Given the description of an element on the screen output the (x, y) to click on. 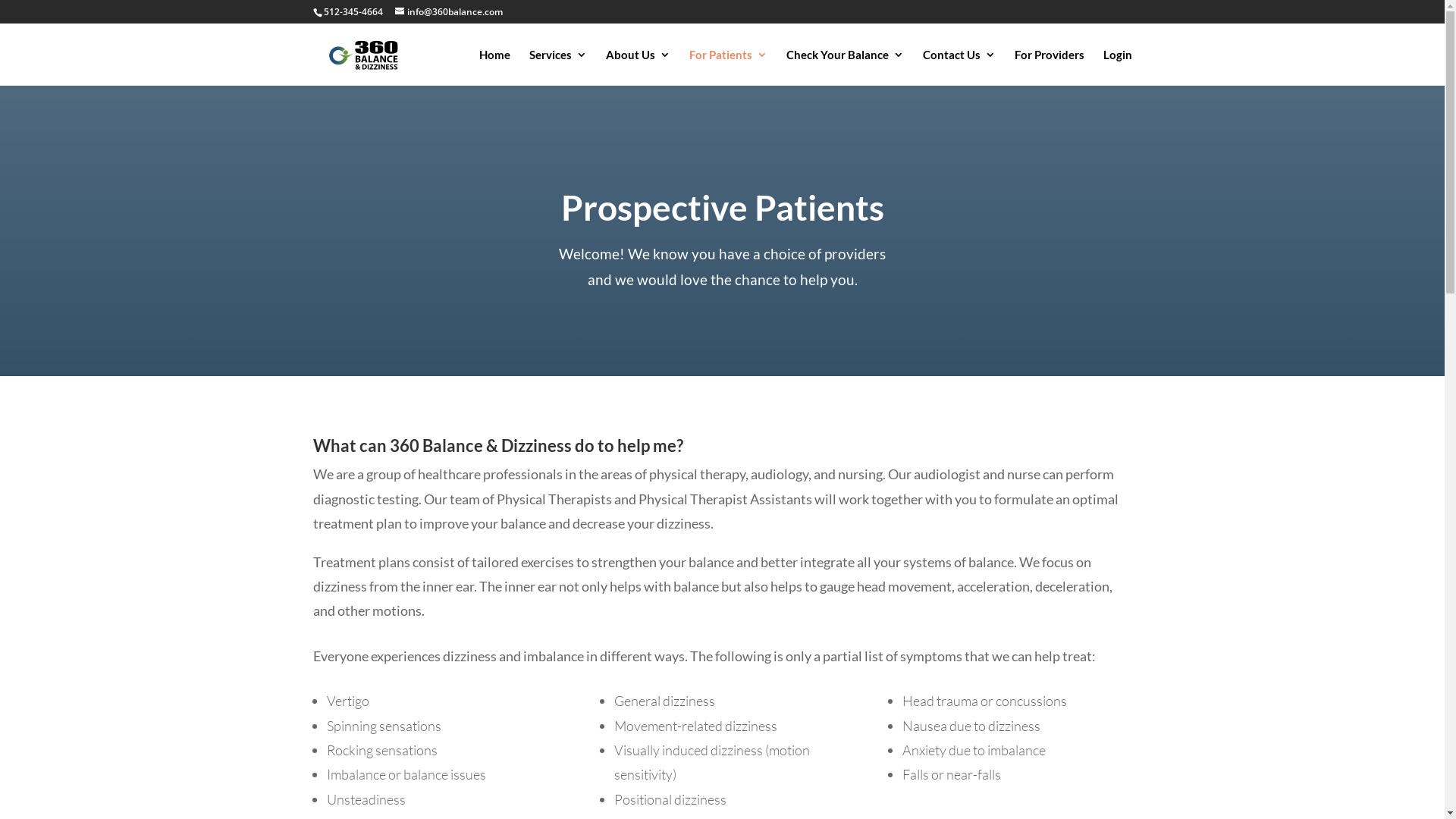
For Providers Element type: text (1049, 67)
Check Your Balance Element type: text (844, 67)
Login Element type: text (1116, 67)
Contact Us Element type: text (958, 67)
For Patients Element type: text (727, 67)
About Us Element type: text (637, 67)
info@360balance.com Element type: text (448, 11)
Home Element type: text (494, 67)
Services Element type: text (557, 67)
